Given the description of an element on the screen output the (x, y) to click on. 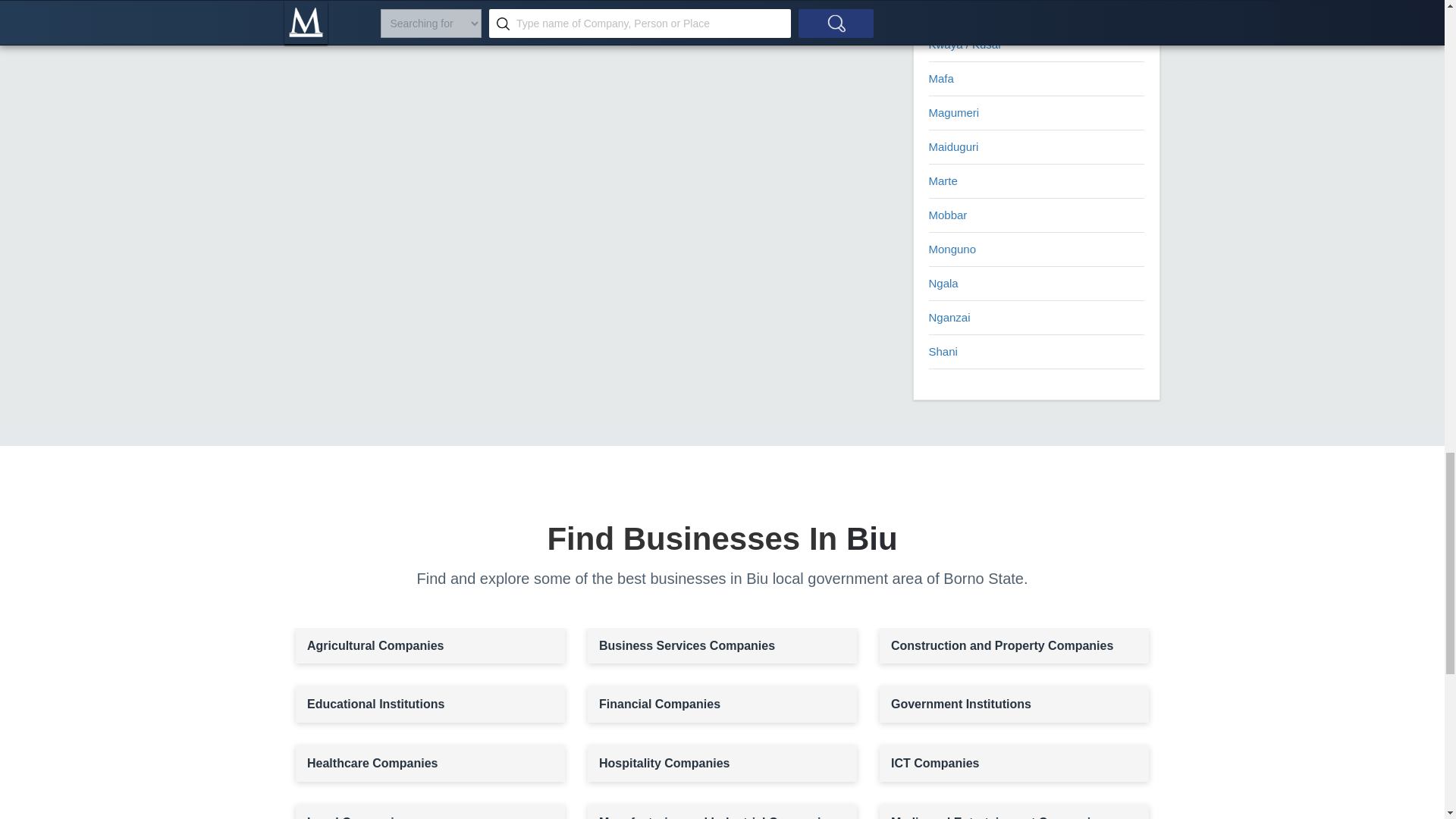
Healthcare Companies in Biu, Borno State (429, 763)
Government Institutions in Biu, Borno State (1013, 704)
Educational Institutions in Biu, Borno State (429, 704)
Financial Companies in Biu, Borno State (722, 704)
Business Services Companies in Biu, Borno State (722, 646)
Hospitality Companies in Biu, Borno State (722, 763)
Construction and Property Companies in Biu, Borno State (1013, 646)
ICT Companies in Biu, Borno State (1013, 763)
Agricultural Companies in Biu, Borno State (429, 646)
